Given the description of an element on the screen output the (x, y) to click on. 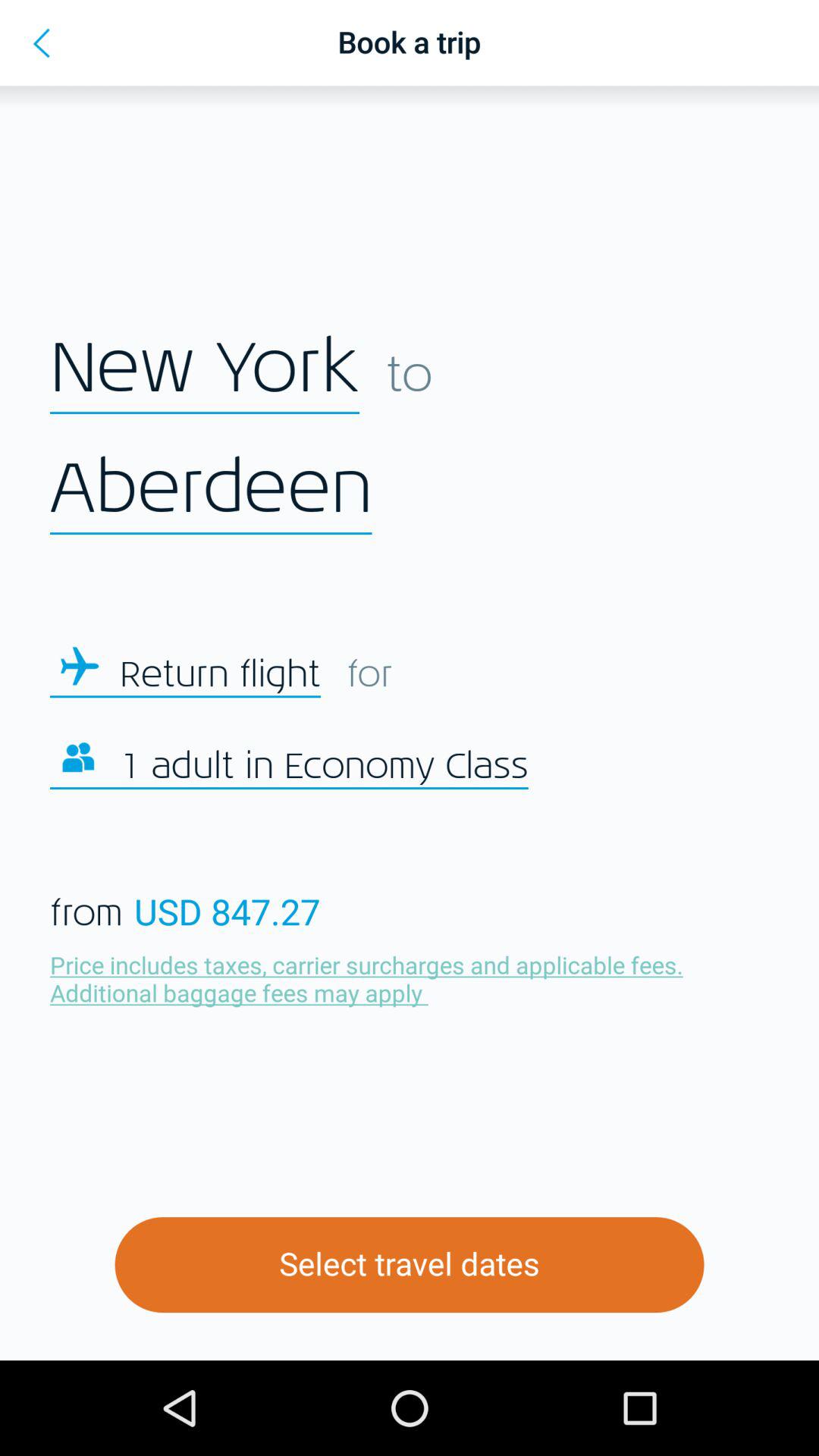
turn off the item to the left of to icon (204, 368)
